Given the description of an element on the screen output the (x, y) to click on. 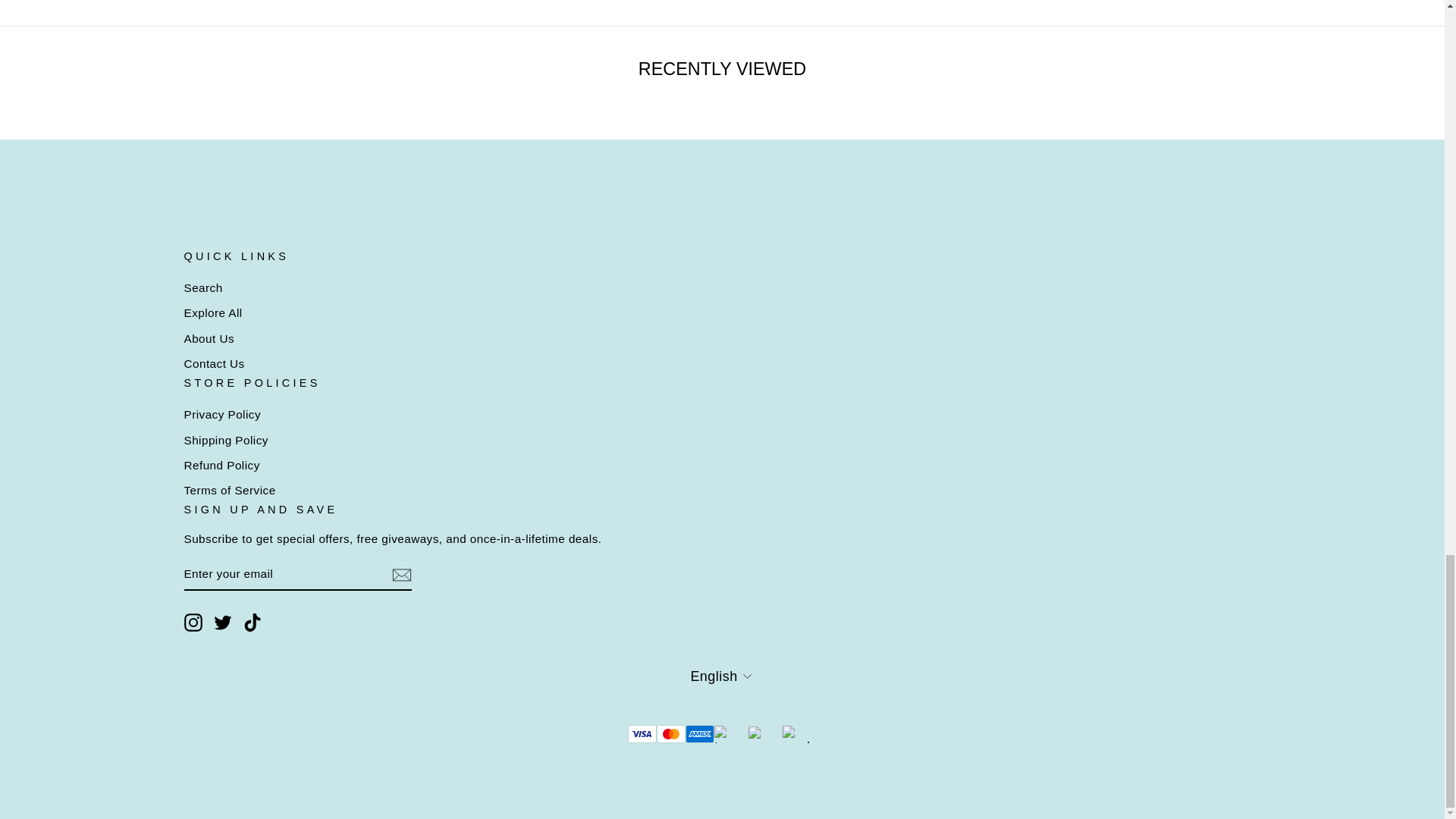
icon-email (400, 574)
PartyExperts on TikTok (251, 622)
PartyExperts on Twitter (222, 622)
PartyExperts on Instagram (192, 622)
instagram (192, 622)
